Given the description of an element on the screen output the (x, y) to click on. 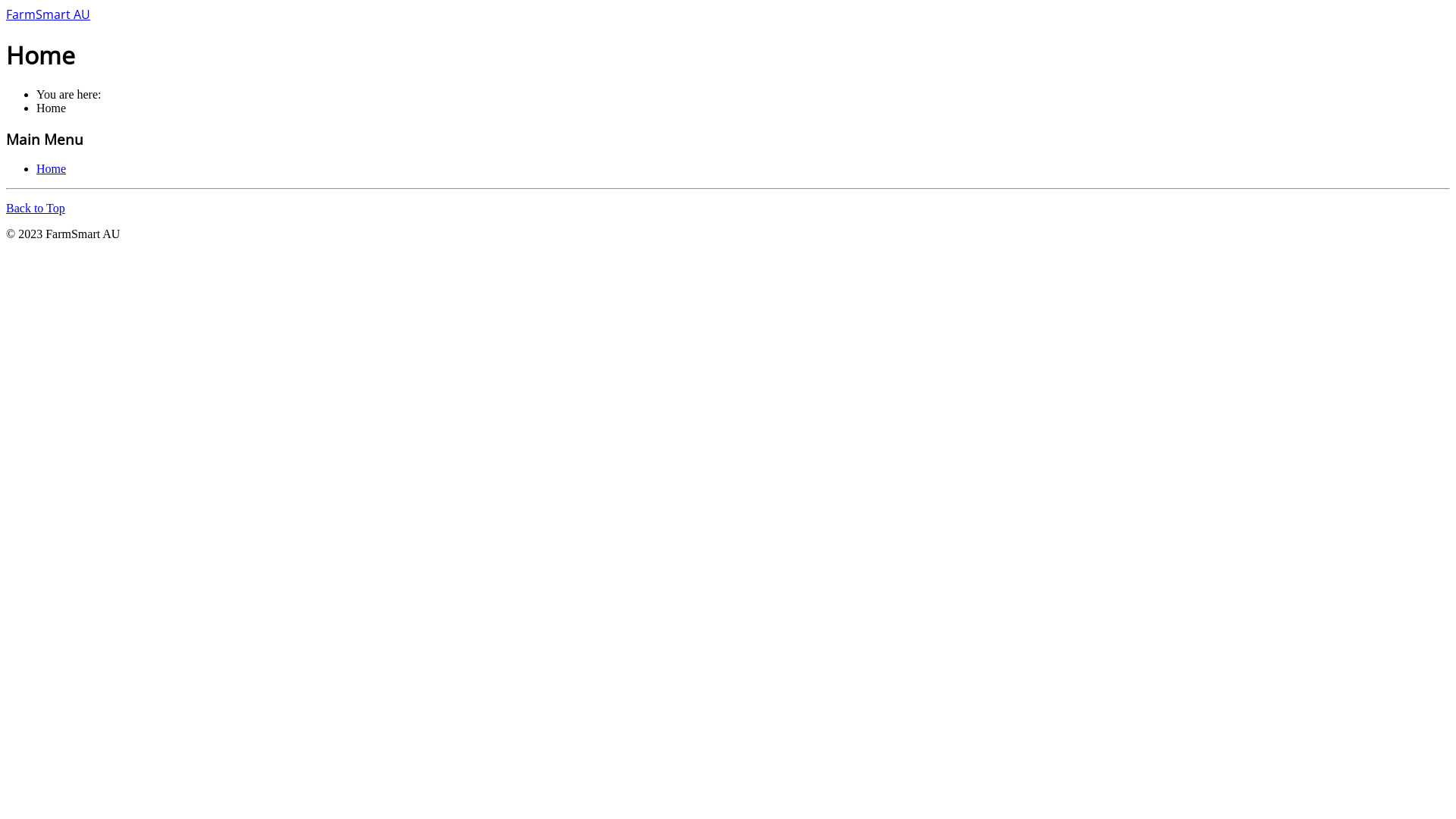
FarmSmart AU Element type: text (48, 14)
Back to Top Element type: text (35, 207)
Home Element type: text (50, 168)
